Given the description of an element on the screen output the (x, y) to click on. 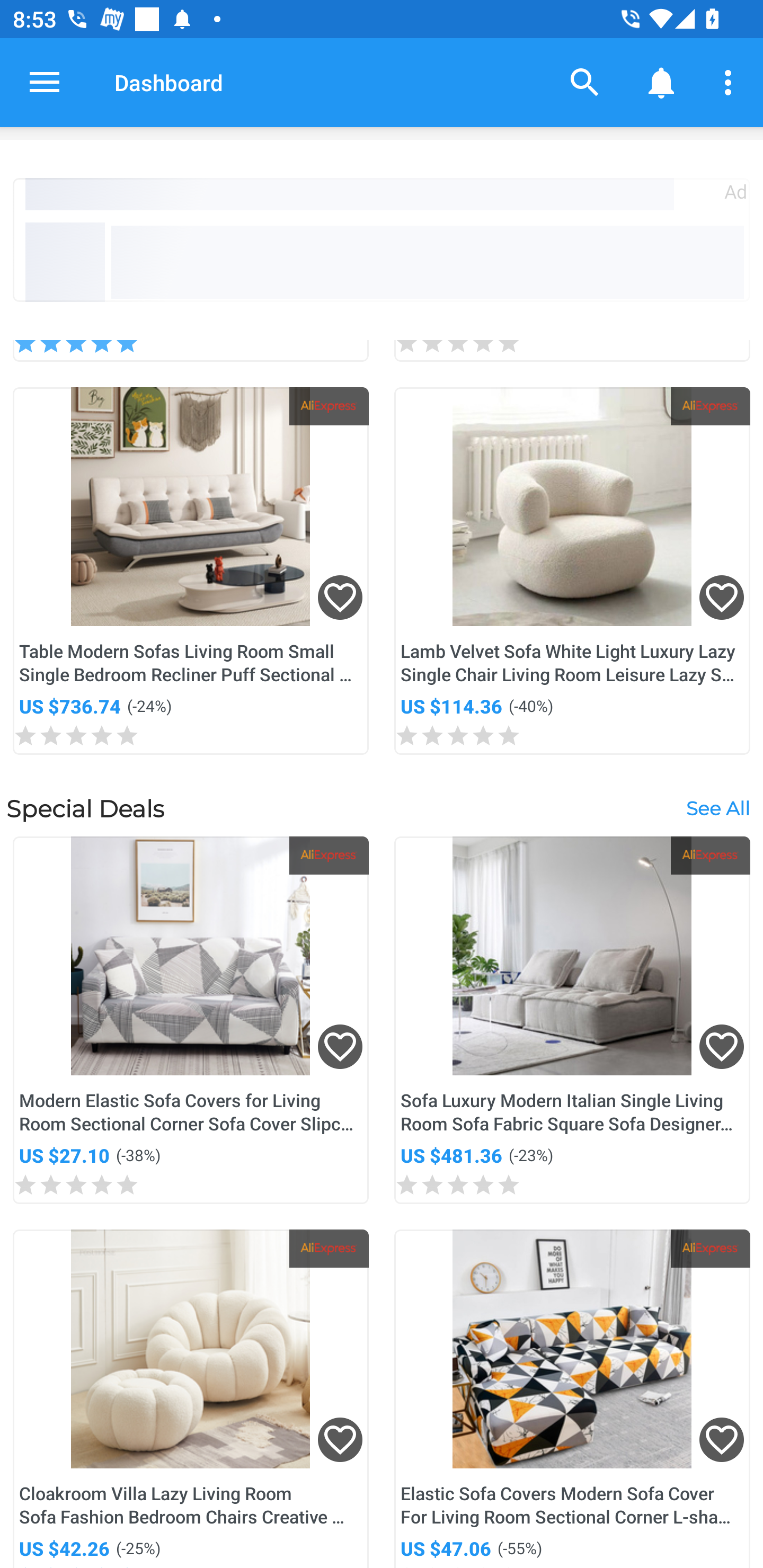
Open navigation drawer (44, 82)
Search (585, 81)
More options (731, 81)
See All (717, 807)
